Given the description of an element on the screen output the (x, y) to click on. 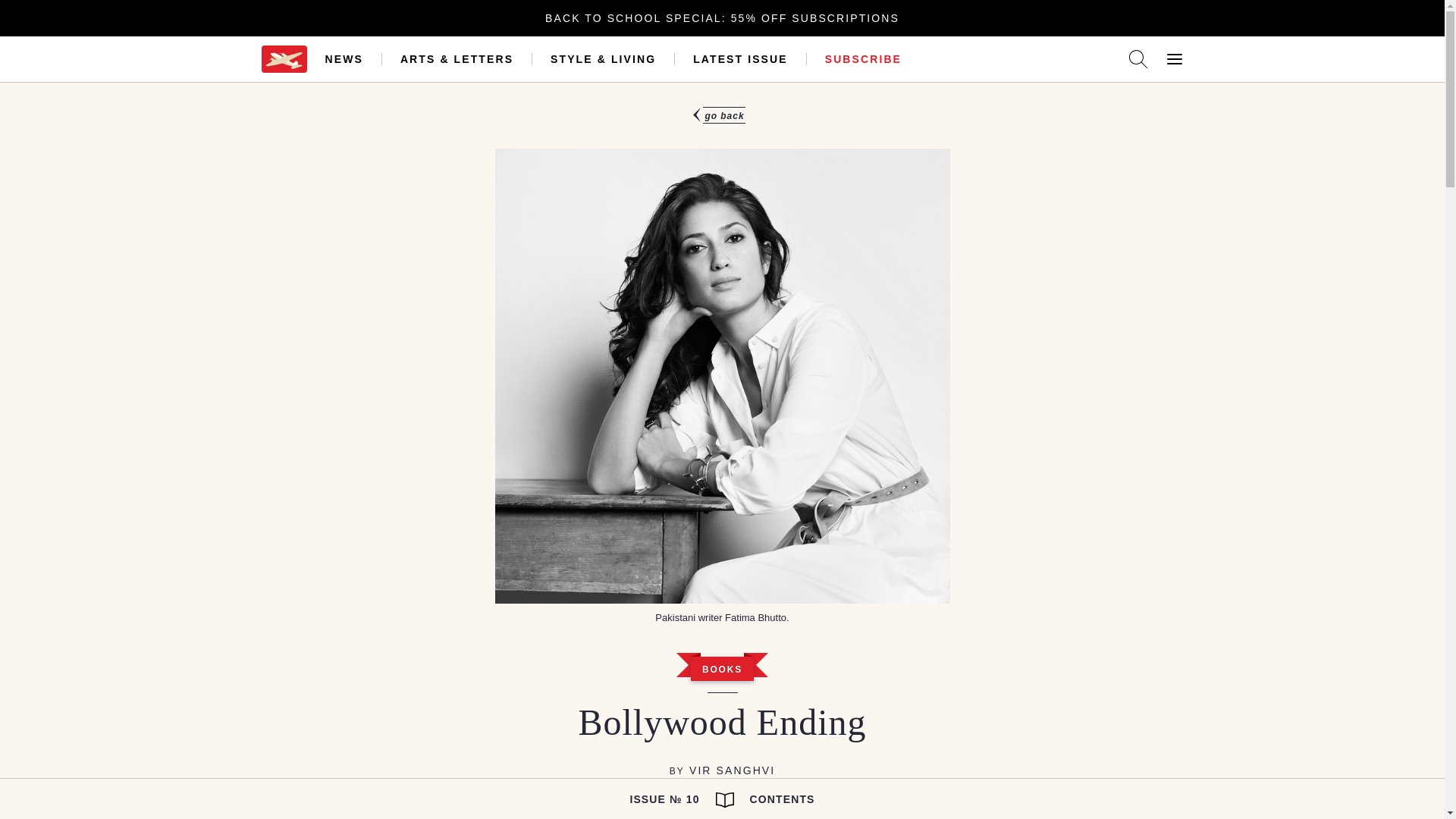
SUBSCRIBE (863, 59)
LATEST ISSUE (740, 59)
NEWS (343, 59)
